Given the description of an element on the screen output the (x, y) to click on. 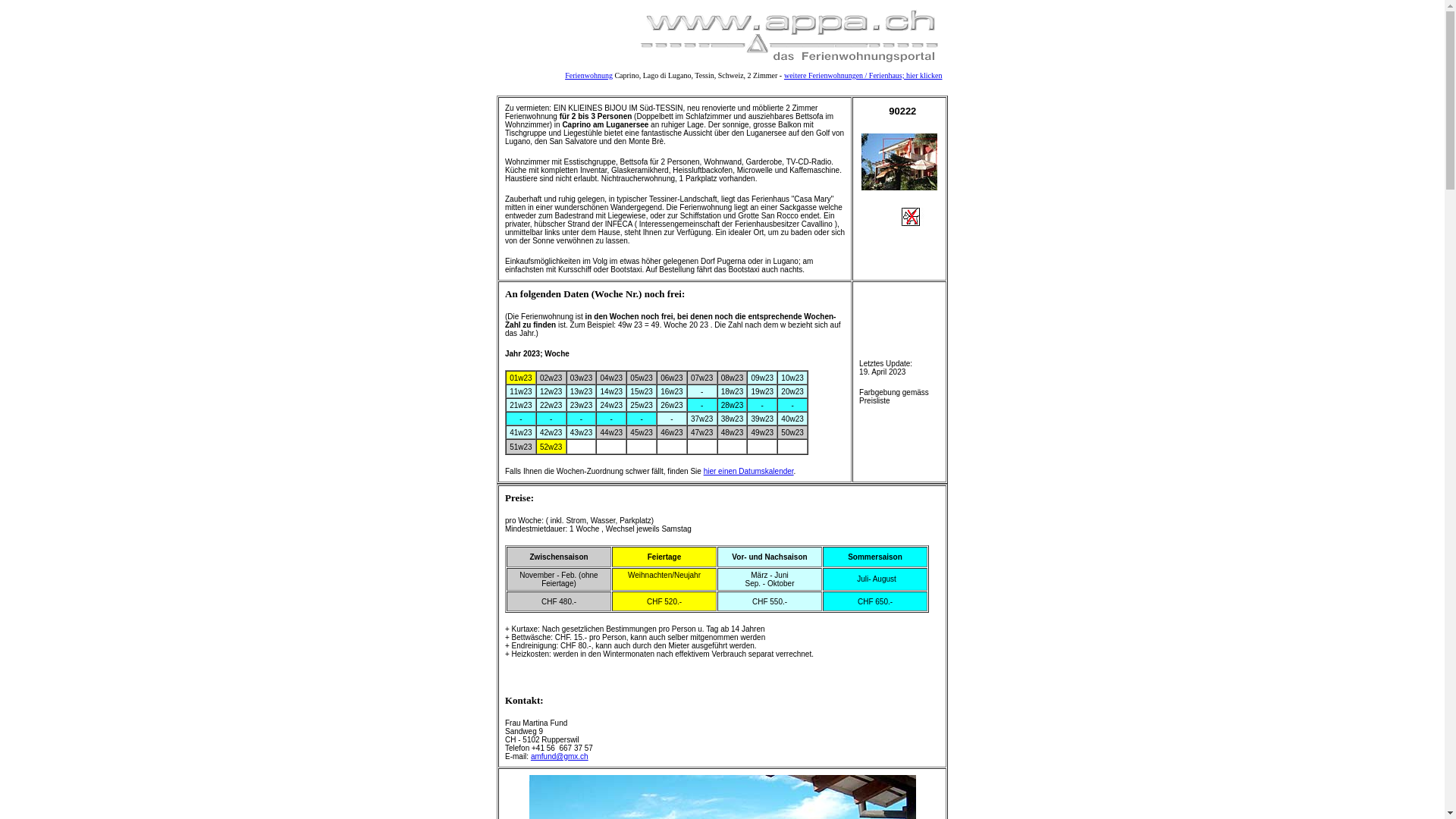
weitere Ferienwohnungen / Ferienhaus; hier klicken Element type: text (863, 75)
Haustiere nicht erlaubt Element type: hover (919, 216)
hier einen Datumskalender Element type: text (748, 471)
amfund@gmx.ch Element type: text (559, 756)
Ferienwohnung Element type: text (588, 75)
